Given the description of an element on the screen output the (x, y) to click on. 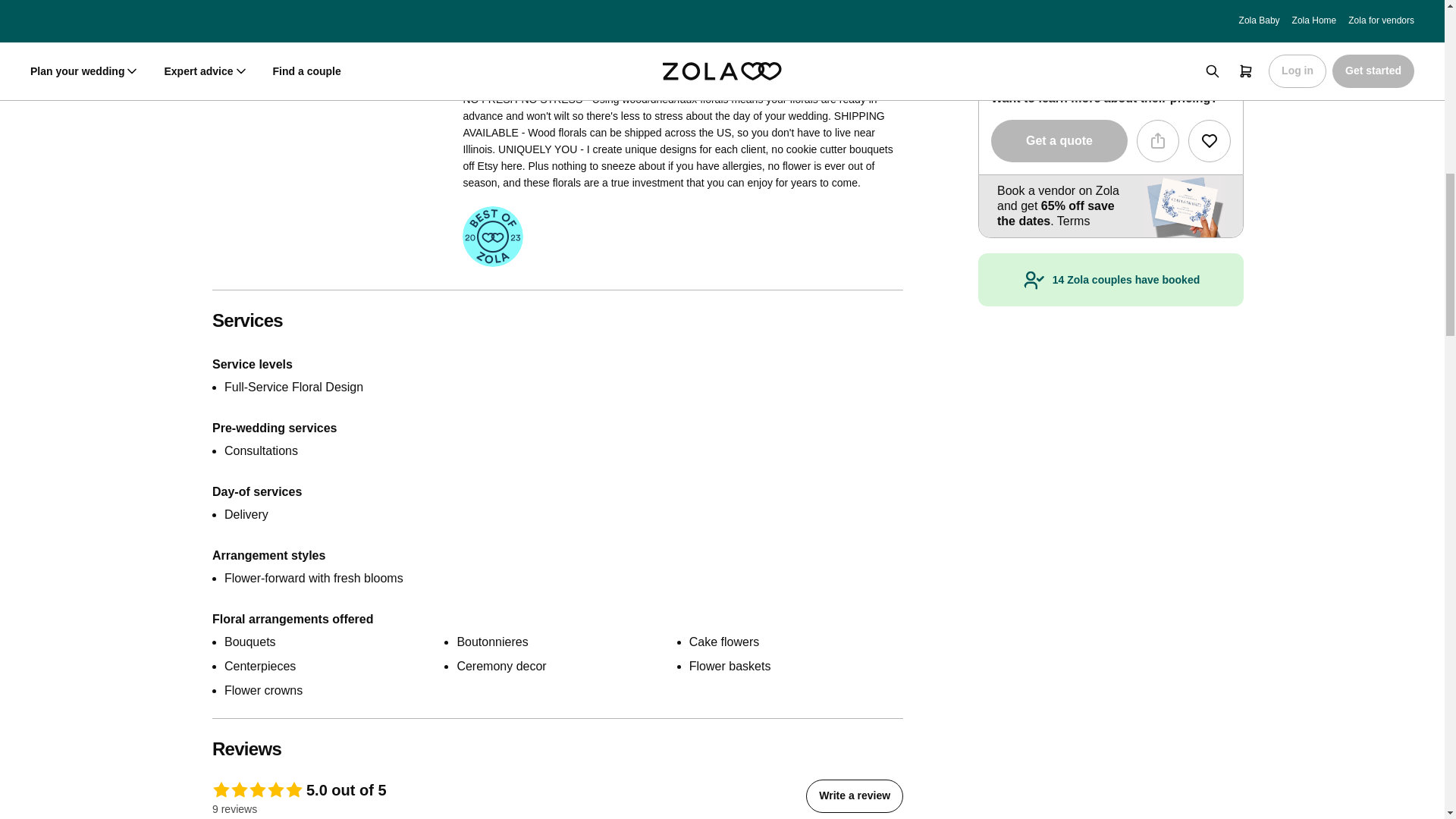
Website (365, 14)
Facebook (278, 14)
Pinterest (336, 14)
Instagram (307, 14)
